Given the description of an element on the screen output the (x, y) to click on. 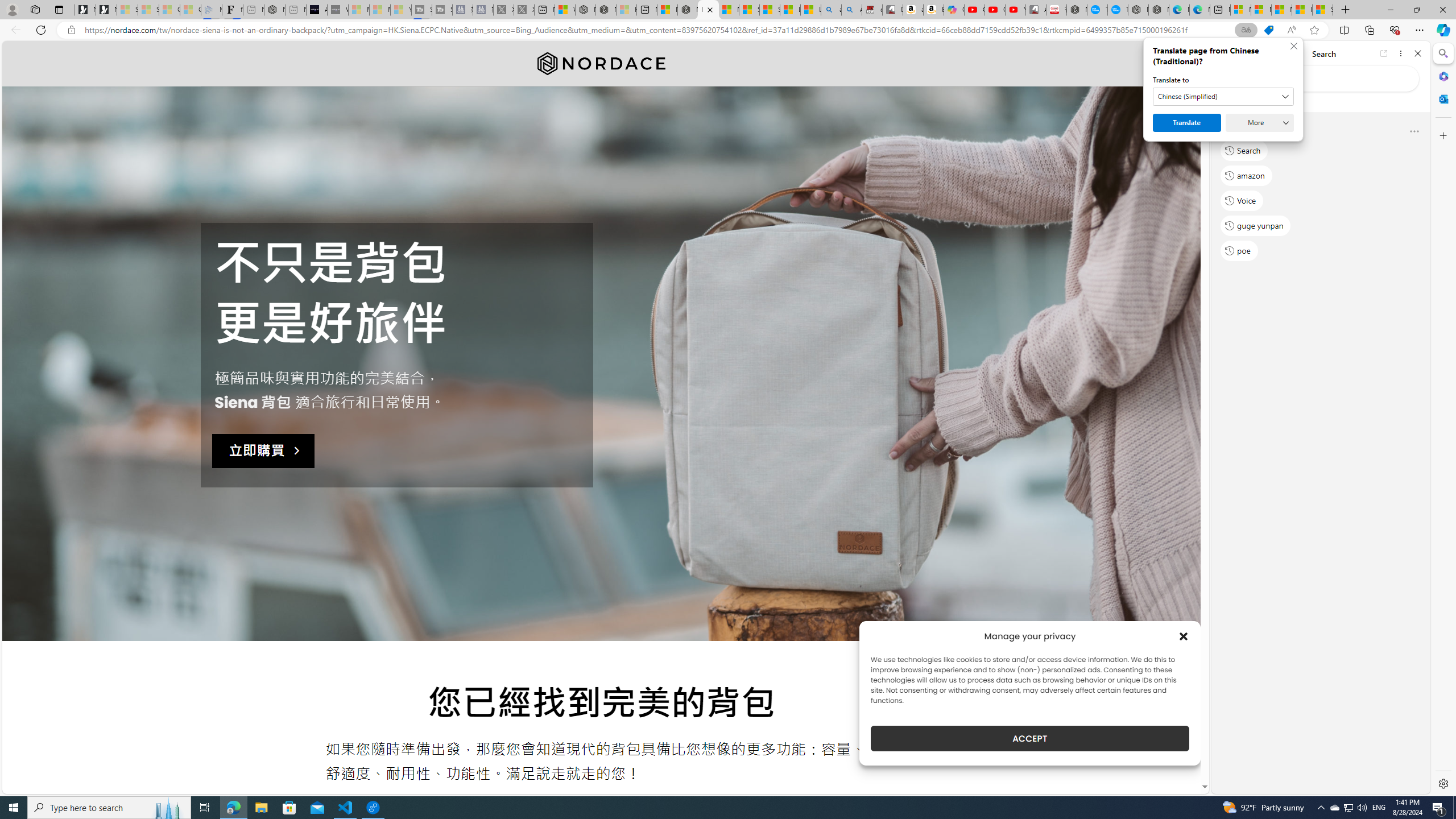
This site scope (1259, 102)
Nordace - My Account (1076, 9)
Amazon Echo Dot PNG - Search Images (851, 9)
More (1259, 122)
Search the web (1326, 78)
YouTube Kids - An App Created for Kids to Explore Content (1015, 9)
Nordace - Nordace Siena Is Not An Ordinary Backpack (708, 9)
